Given the description of an element on the screen output the (x, y) to click on. 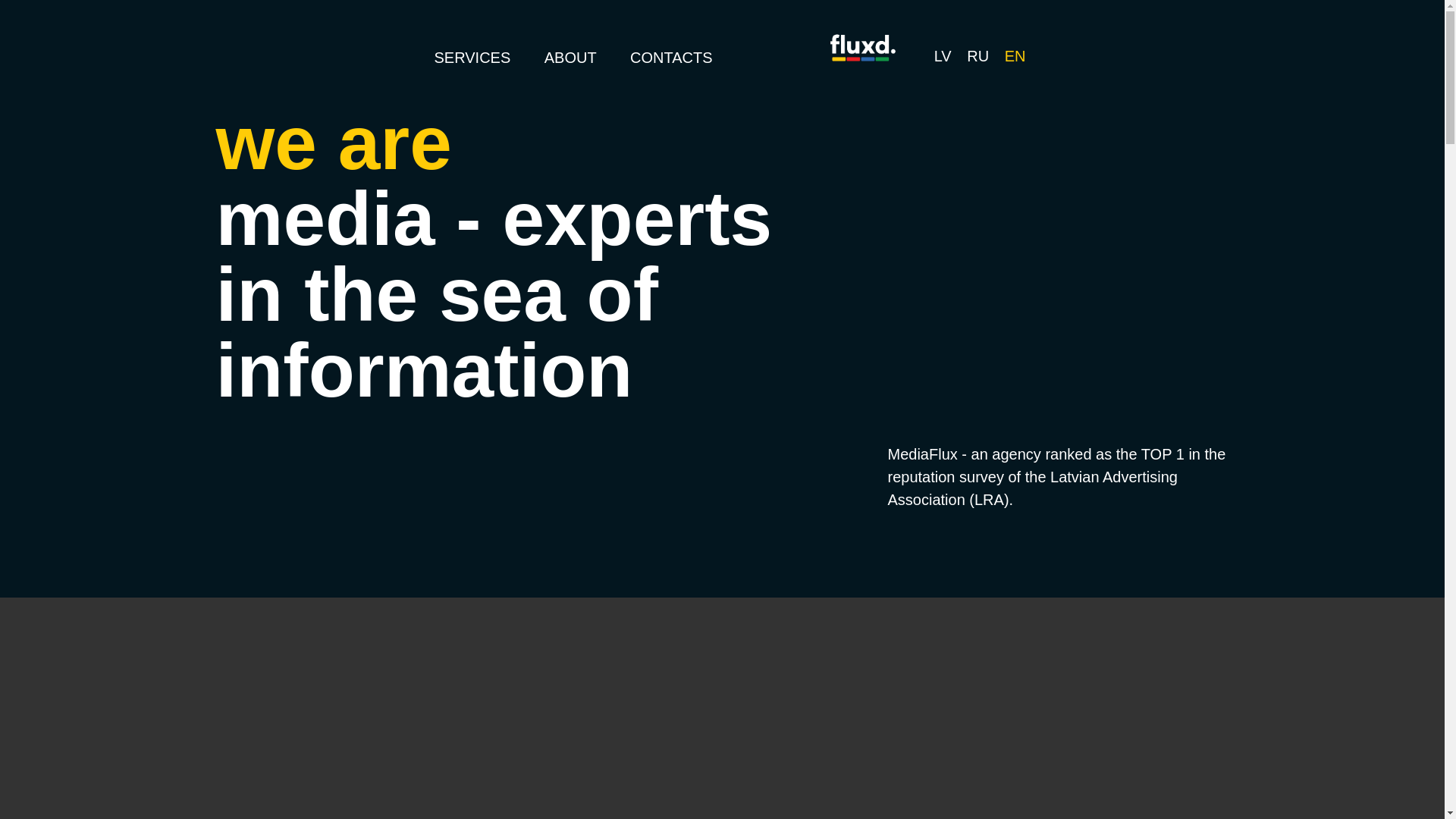
SERVICES (472, 57)
SERVICES (472, 57)
RU (977, 55)
EN (1015, 55)
ABOUT (570, 57)
CONTACTS (671, 57)
CONTACTS (671, 57)
LV (943, 55)
ABOUT (570, 57)
